Given the description of an element on the screen output the (x, y) to click on. 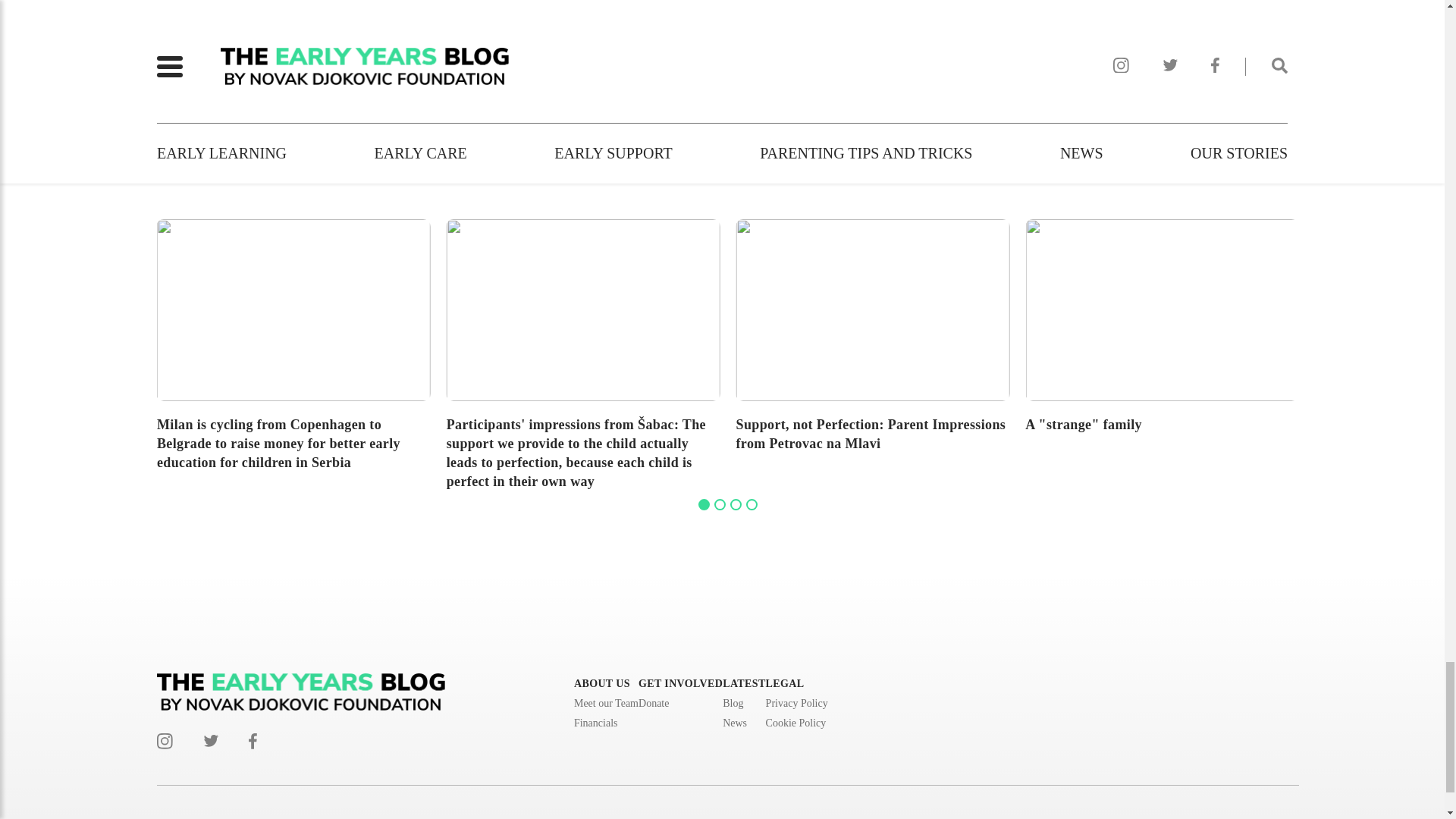
A "strange" family (1161, 340)
